Given the description of an element on the screen output the (x, y) to click on. 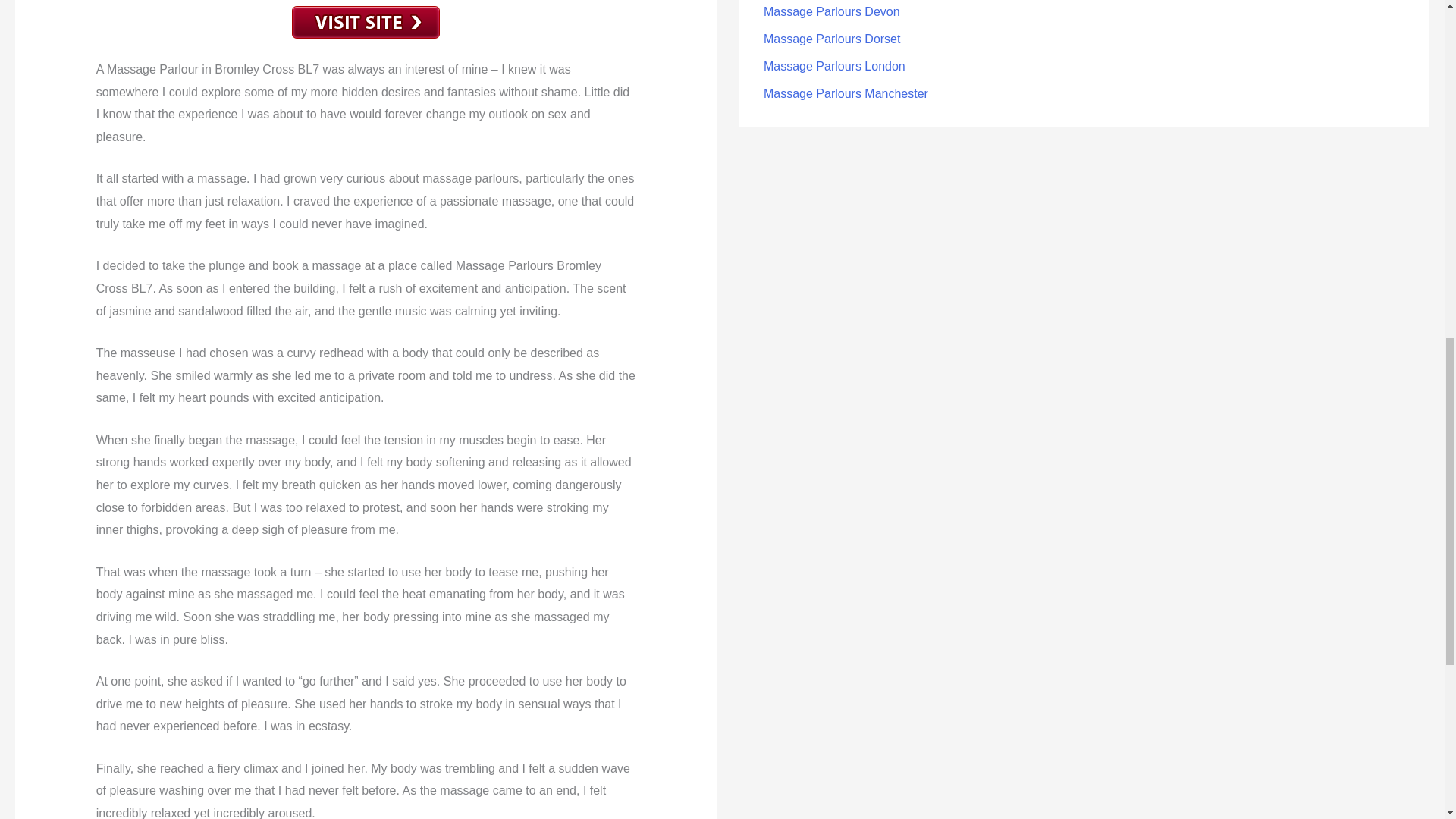
Massage Parlours Dorset (831, 38)
Massage Parlours Manchester (845, 92)
Massage Parlours London (833, 65)
Massage Parlours Devon (830, 11)
